Given the description of an element on the screen output the (x, y) to click on. 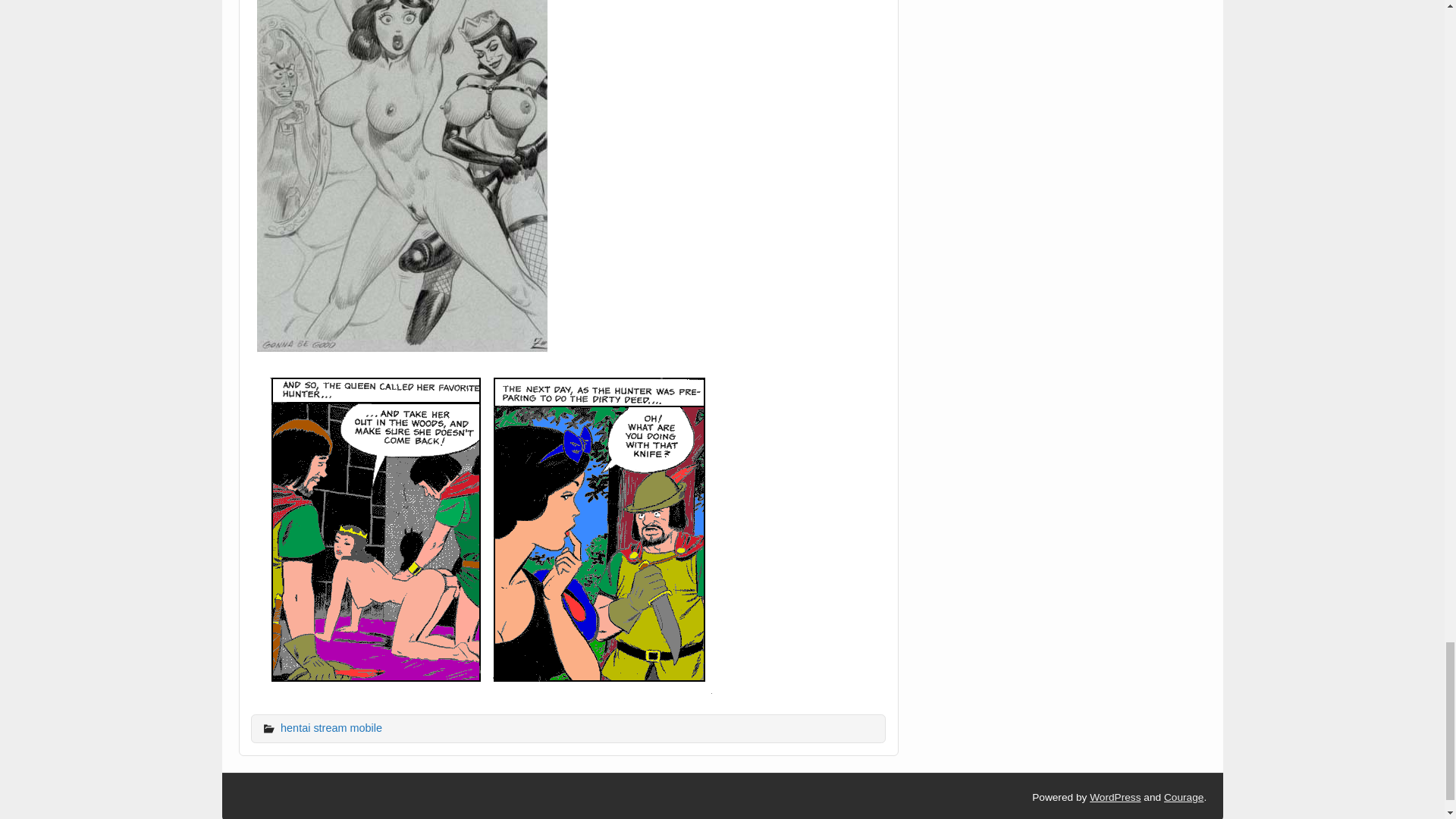
hentai stream mobile (331, 727)
WordPress (1114, 797)
Courage WordPress Theme (1183, 797)
